Given the description of an element on the screen output the (x, y) to click on. 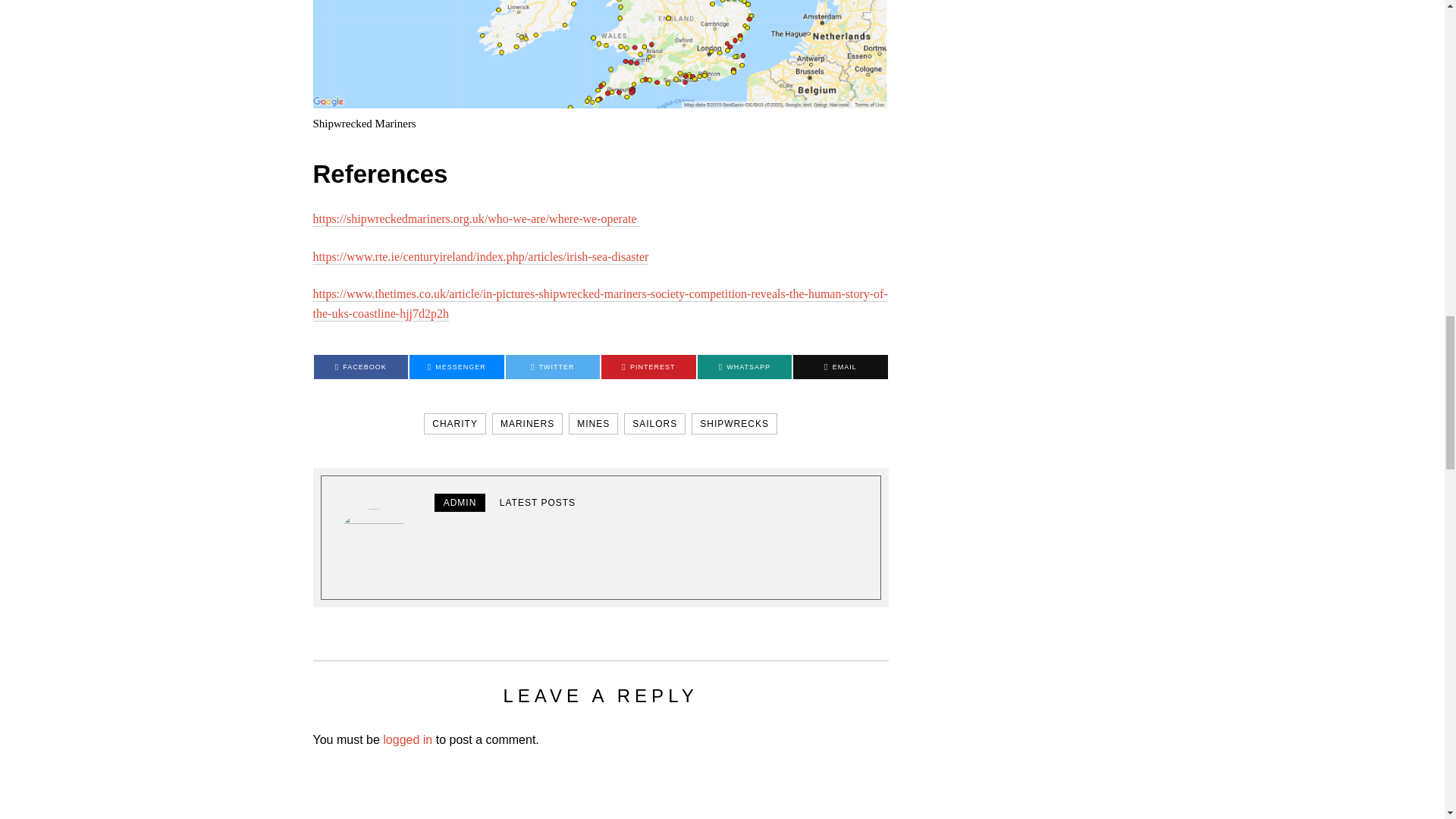
FACEBOOK (361, 366)
CHARITY (454, 423)
SHIPWRECKS (734, 423)
MARINERS (527, 423)
TWITTER (552, 366)
PINTEREST (648, 366)
ADMIN (459, 502)
SAILORS (654, 423)
MESSENGER (456, 366)
WHATSAPP (744, 366)
LATEST POSTS (537, 502)
MINES (593, 423)
EMAIL (840, 366)
